Given the description of an element on the screen output the (x, y) to click on. 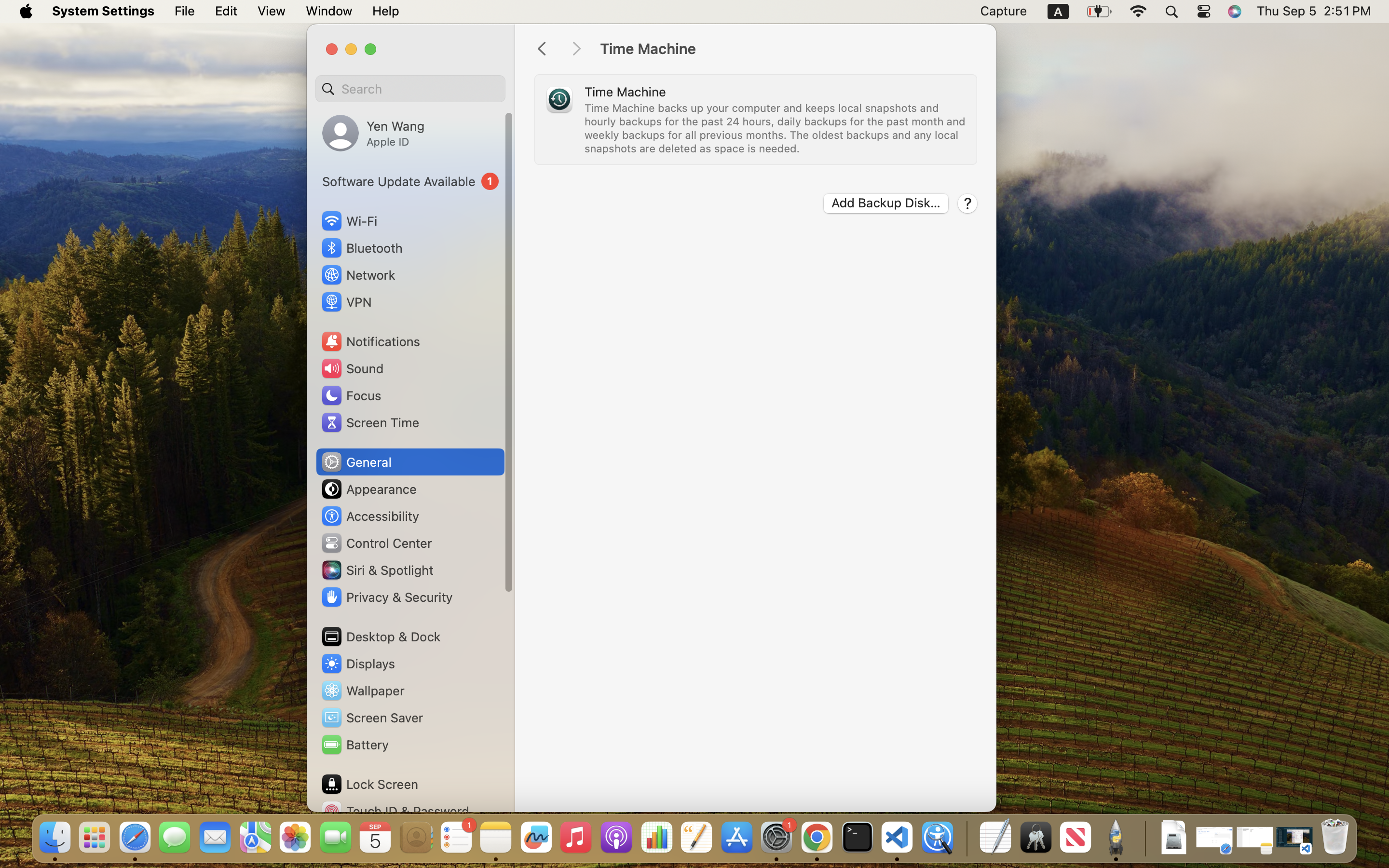
Siri & Spotlight Element type: AXStaticText (376, 569)
VPN Element type: AXStaticText (345, 301)
Time Machine Element type: AXStaticText (788, 49)
Wi‑Fi Element type: AXStaticText (348, 220)
Yen Wang, Apple ID Element type: AXStaticText (373, 132)
